Given the description of an element on the screen output the (x, y) to click on. 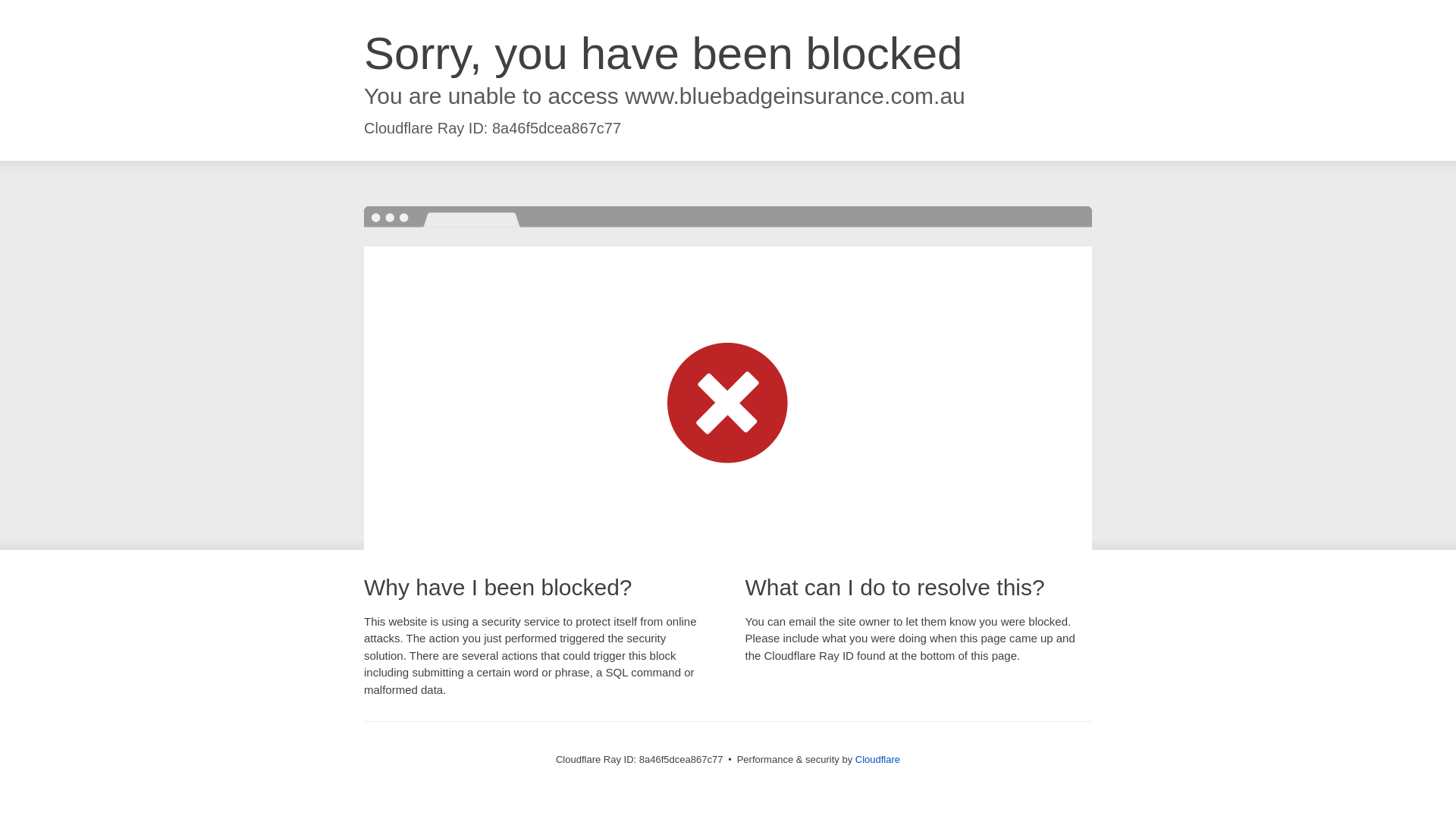
Cloudflare (877, 758)
